Given the description of an element on the screen output the (x, y) to click on. 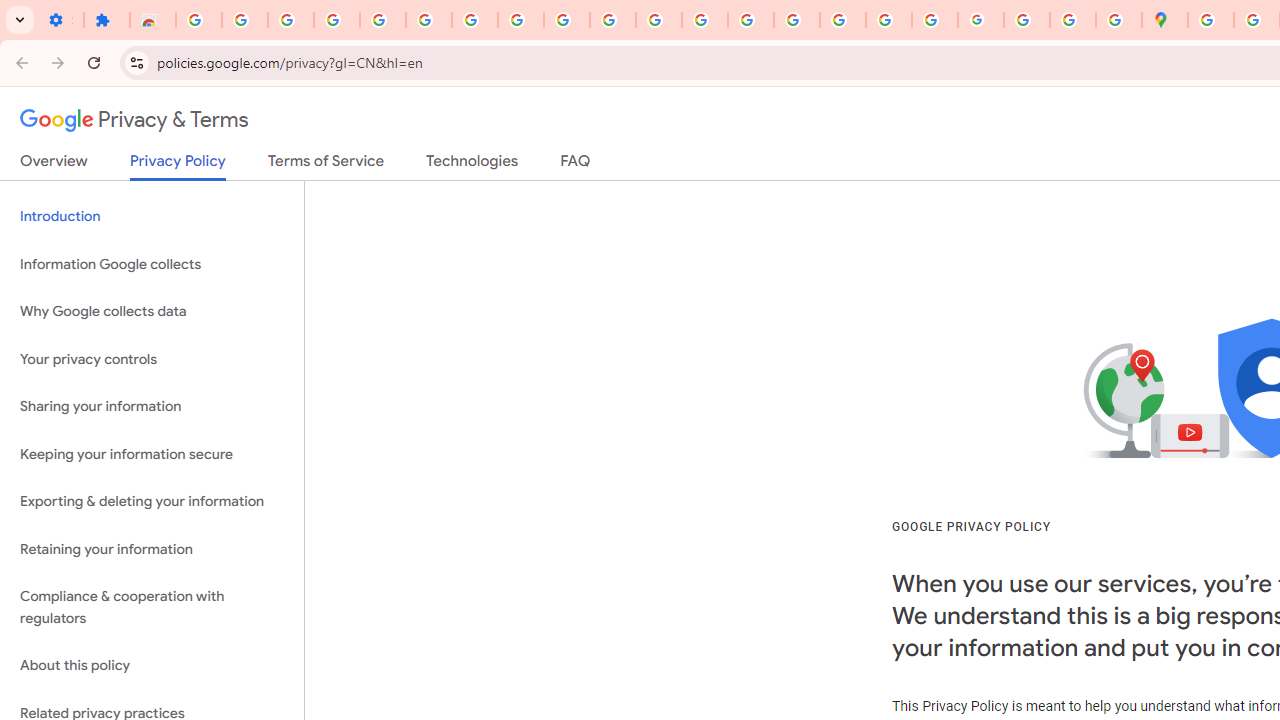
YouTube (613, 20)
Sign in - Google Accounts (1210, 20)
Reviews: Helix Fruit Jump Arcade Game (153, 20)
